Given the description of an element on the screen output the (x, y) to click on. 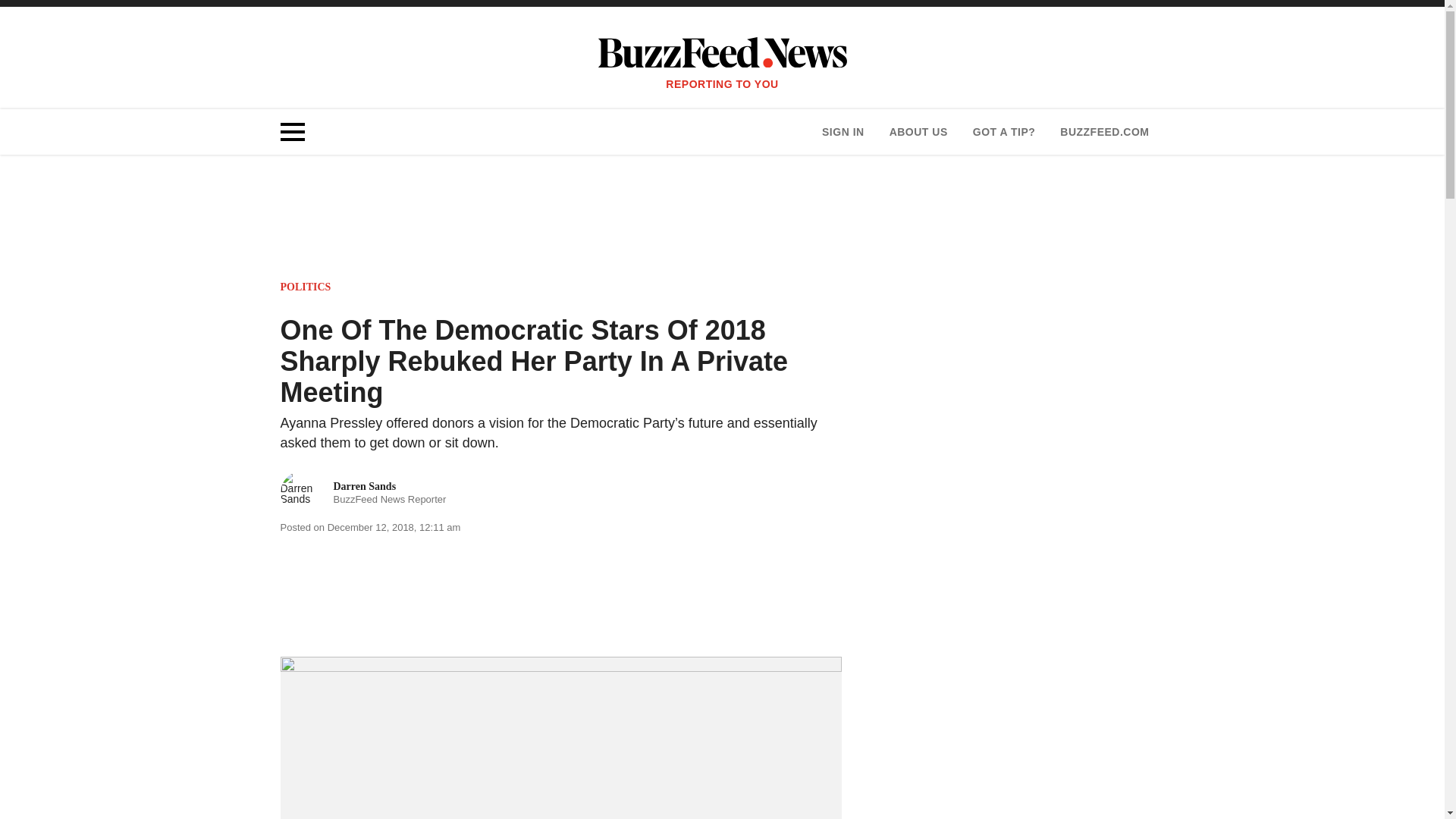
SIGN IN (842, 131)
POLITICS (306, 286)
BUZZFEED.COM (1103, 131)
GOT A TIP? (363, 492)
ABOUT US (1003, 131)
